Given the description of an element on the screen output the (x, y) to click on. 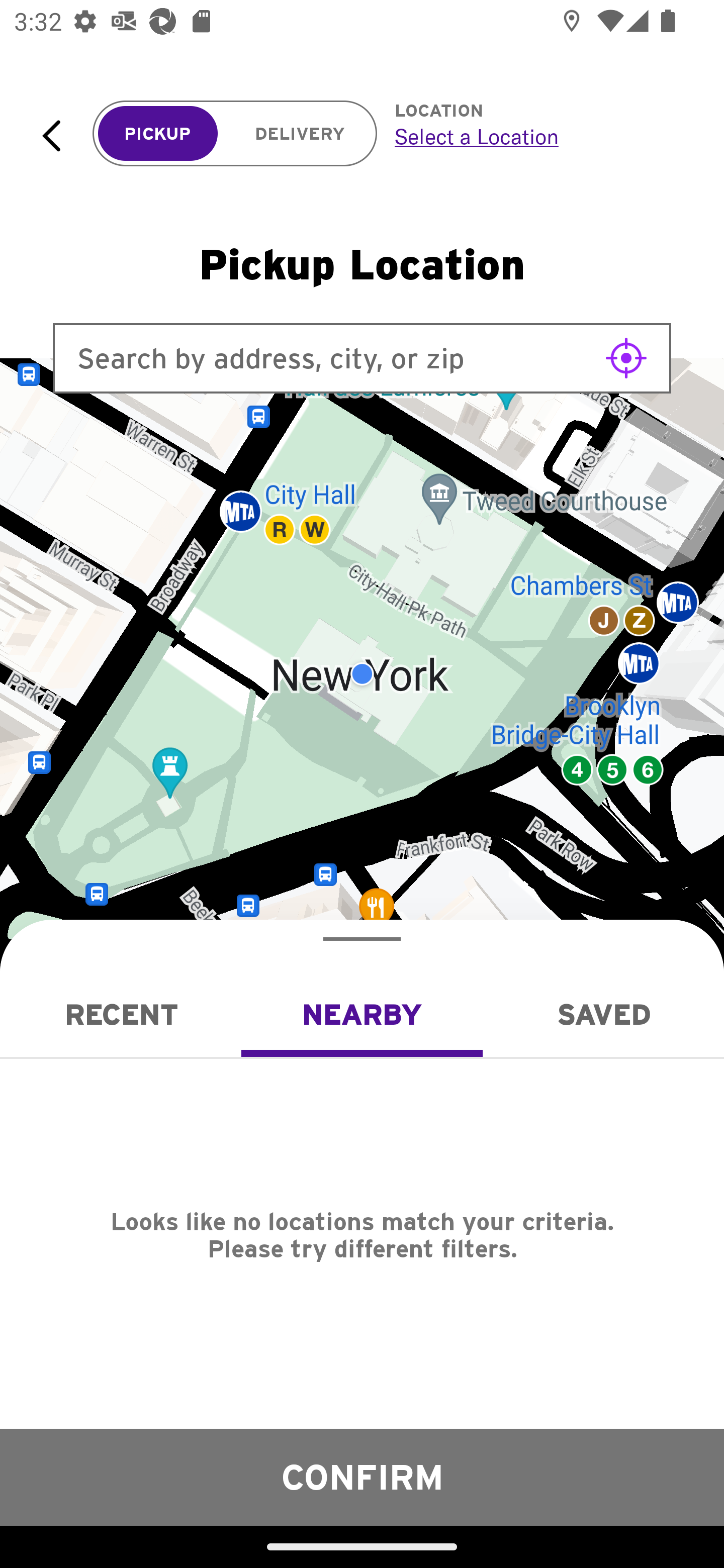
PICKUP (157, 133)
DELIVERY (299, 133)
Select a Location (536, 136)
Search by address, city, or zip (361, 358)
Google Map (362, 674)
Recent RECENT (120, 1014)
Saved SAVED (603, 1014)
CONFIRM (362, 1476)
